Given the description of an element on the screen output the (x, y) to click on. 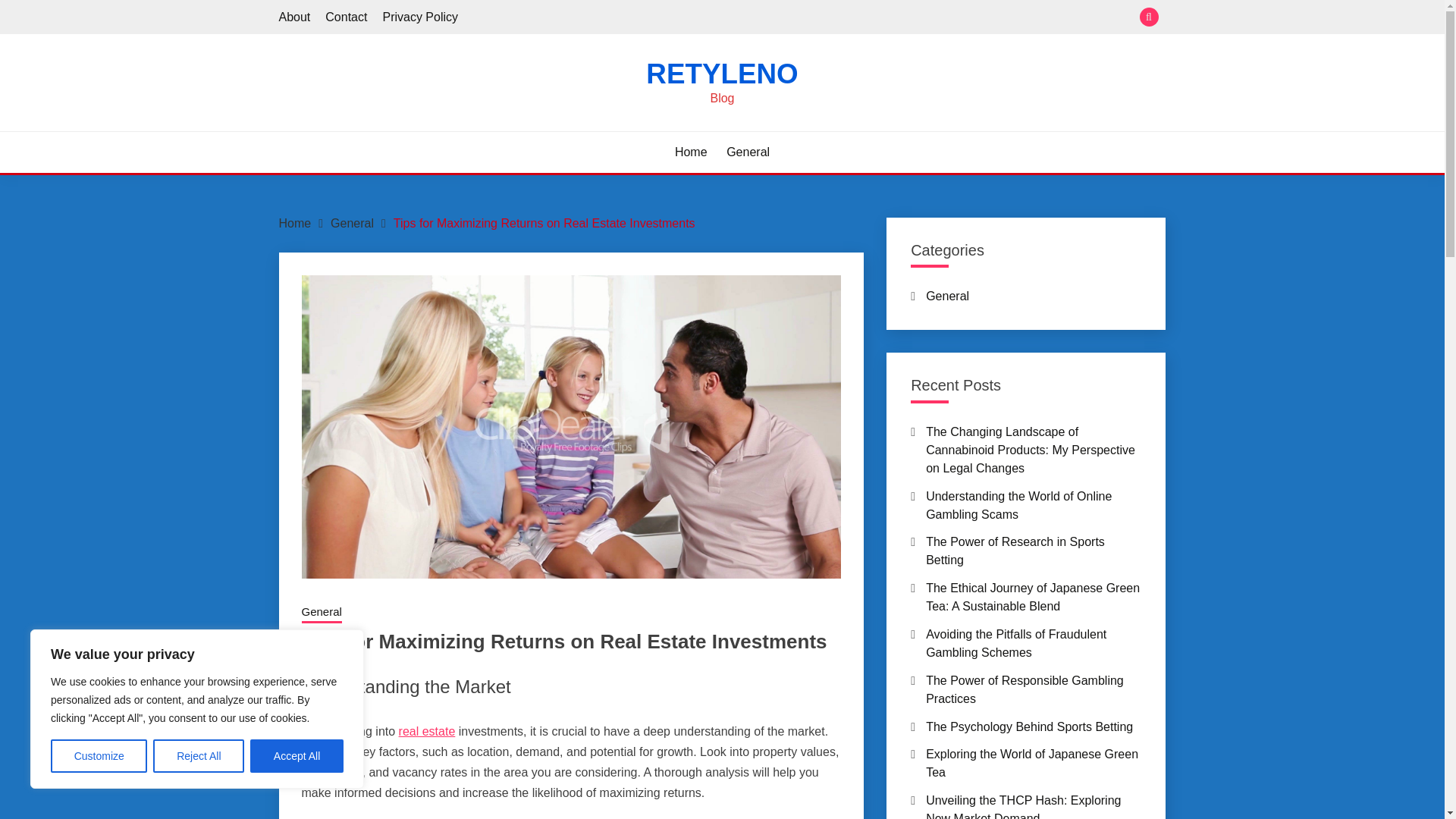
Tips for Maximizing Returns on Real Estate Investments (544, 223)
Home (691, 152)
Home (295, 223)
General (352, 223)
Privacy Policy (419, 16)
Reject All (198, 756)
Customize (98, 756)
General (321, 613)
real estate (426, 730)
Accept All (296, 756)
Contact (345, 16)
General (748, 152)
About (295, 16)
RETYLENO (721, 73)
